Given the description of an element on the screen output the (x, y) to click on. 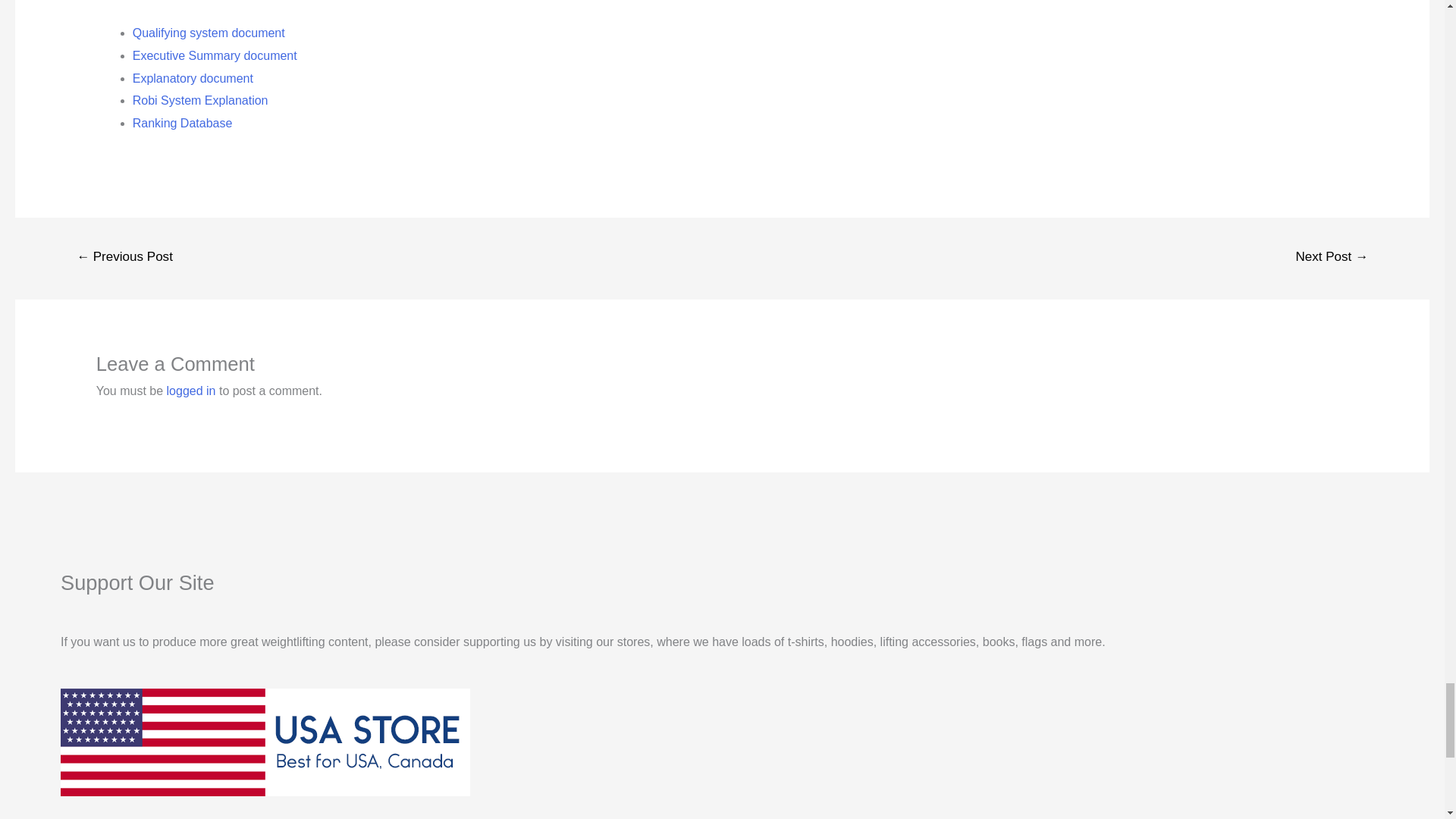
logged in (191, 390)
Explanatory document (192, 77)
Robi System Explanation (199, 100)
Executive Summary document (214, 55)
Qualifying system document (208, 32)
Ranking Database (182, 123)
